Given the description of an element on the screen output the (x, y) to click on. 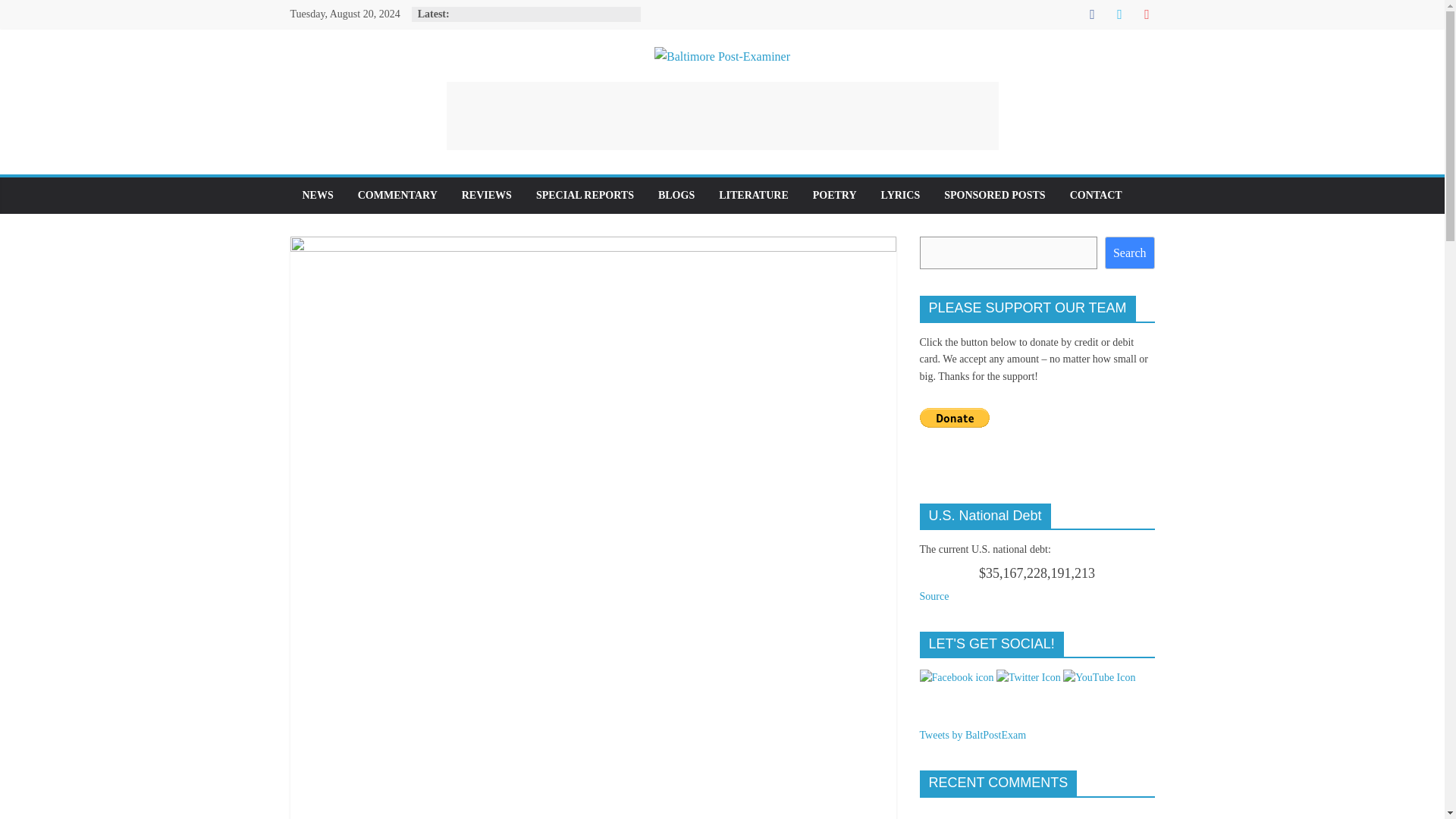
Source (933, 595)
POETRY (834, 195)
LITERATURE (753, 195)
REVIEWS (486, 195)
Tweets by BaltPostExam (972, 735)
COMMENTARY (397, 195)
LYRICS (901, 195)
SPONSORED POSTS (994, 195)
SPECIAL REPORTS (585, 195)
NEWS (317, 195)
